Given the description of an element on the screen output the (x, y) to click on. 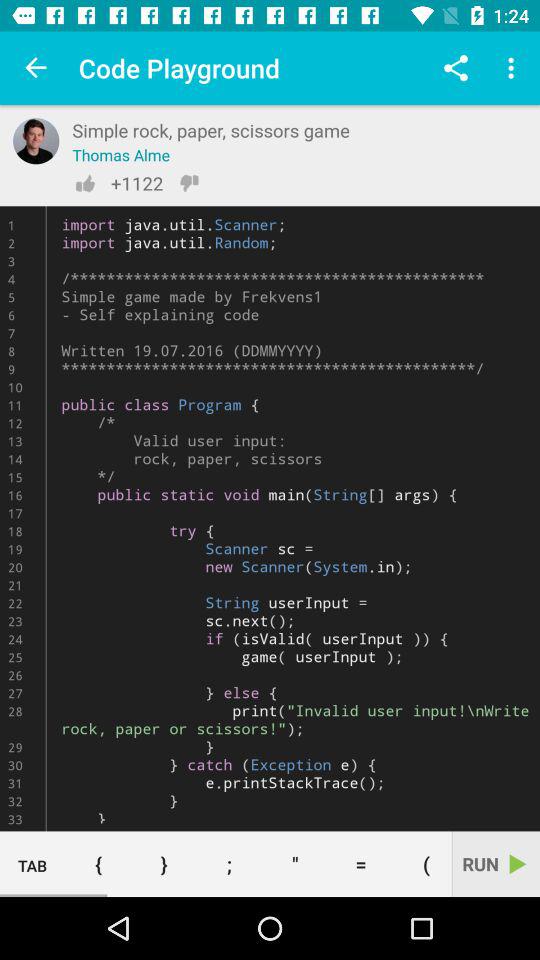
turn on the icon to the left of the " item (229, 863)
